Given the description of an element on the screen output the (x, y) to click on. 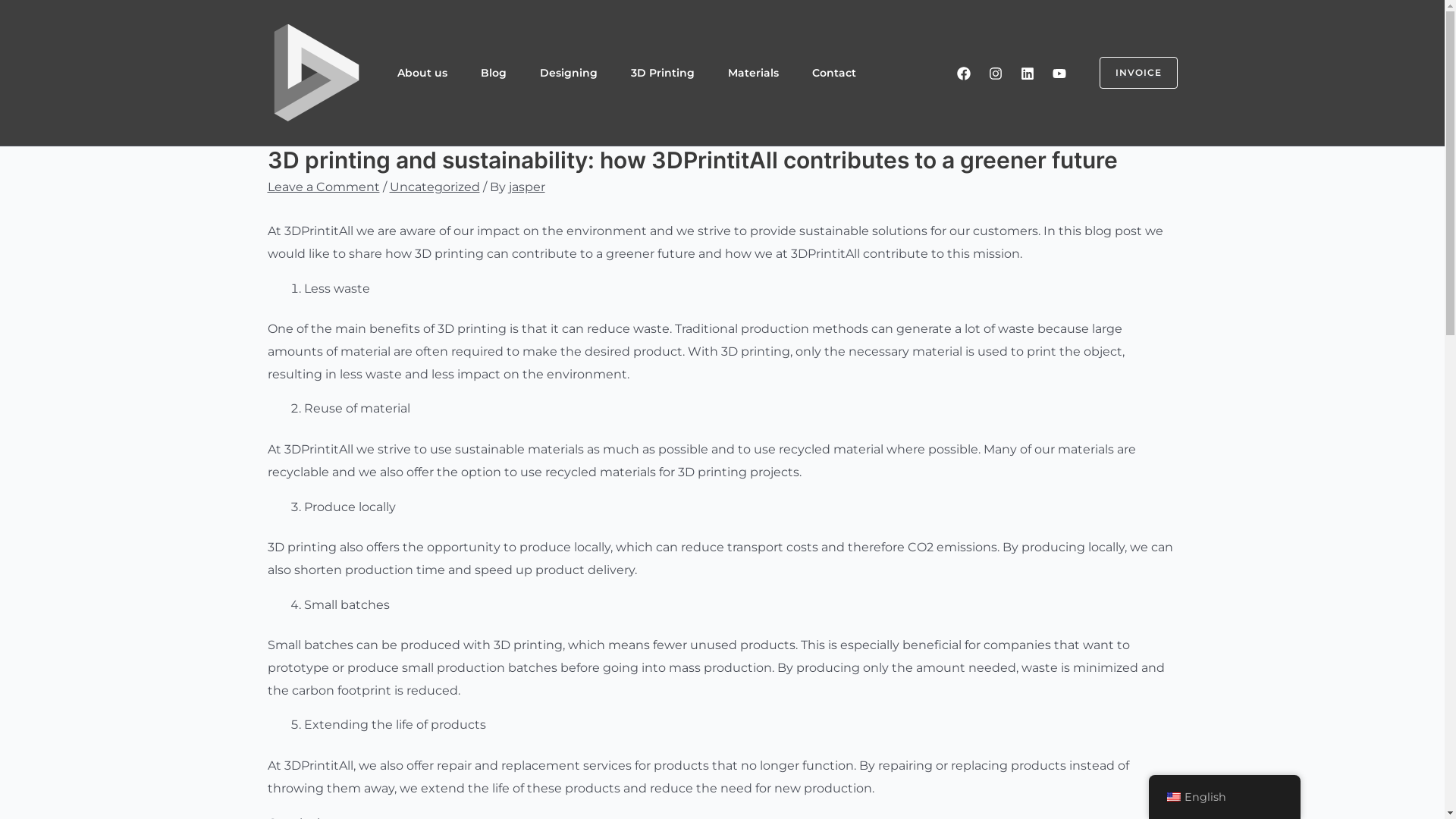
Designing Element type: text (568, 72)
Uncategorized Element type: text (434, 186)
Blog Element type: text (493, 72)
3D Printing Element type: text (662, 72)
INVOICE Element type: text (1129, 72)
English Element type: text (1223, 797)
Leave a Comment Element type: text (322, 186)
jasper Element type: text (526, 186)
Materials Element type: text (753, 72)
Contact Element type: text (833, 72)
About us Element type: text (422, 72)
English Element type: hover (1172, 796)
